Given the description of an element on the screen output the (x, y) to click on. 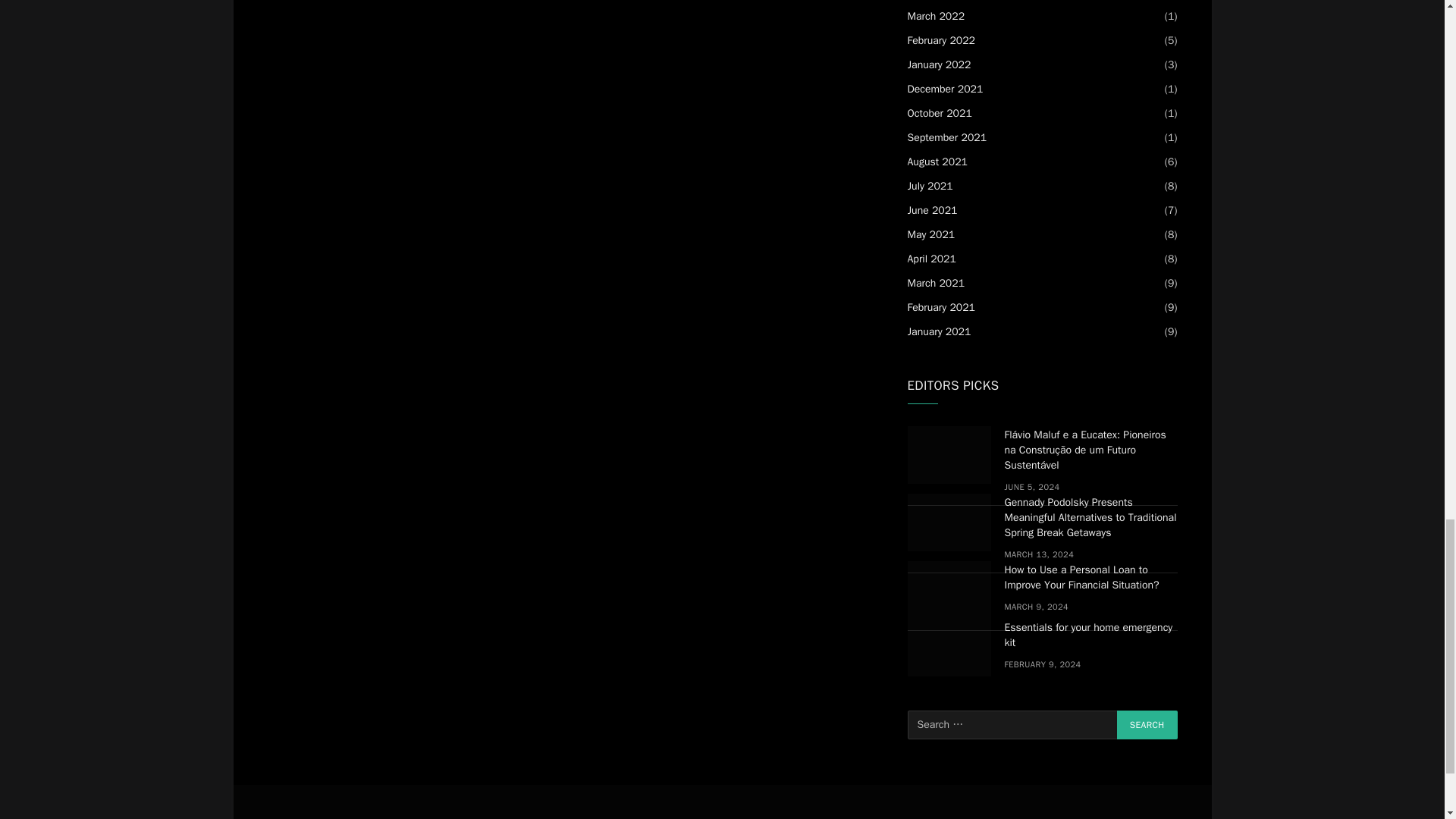
Search (1146, 724)
Search (1146, 724)
